Given the description of an element on the screen output the (x, y) to click on. 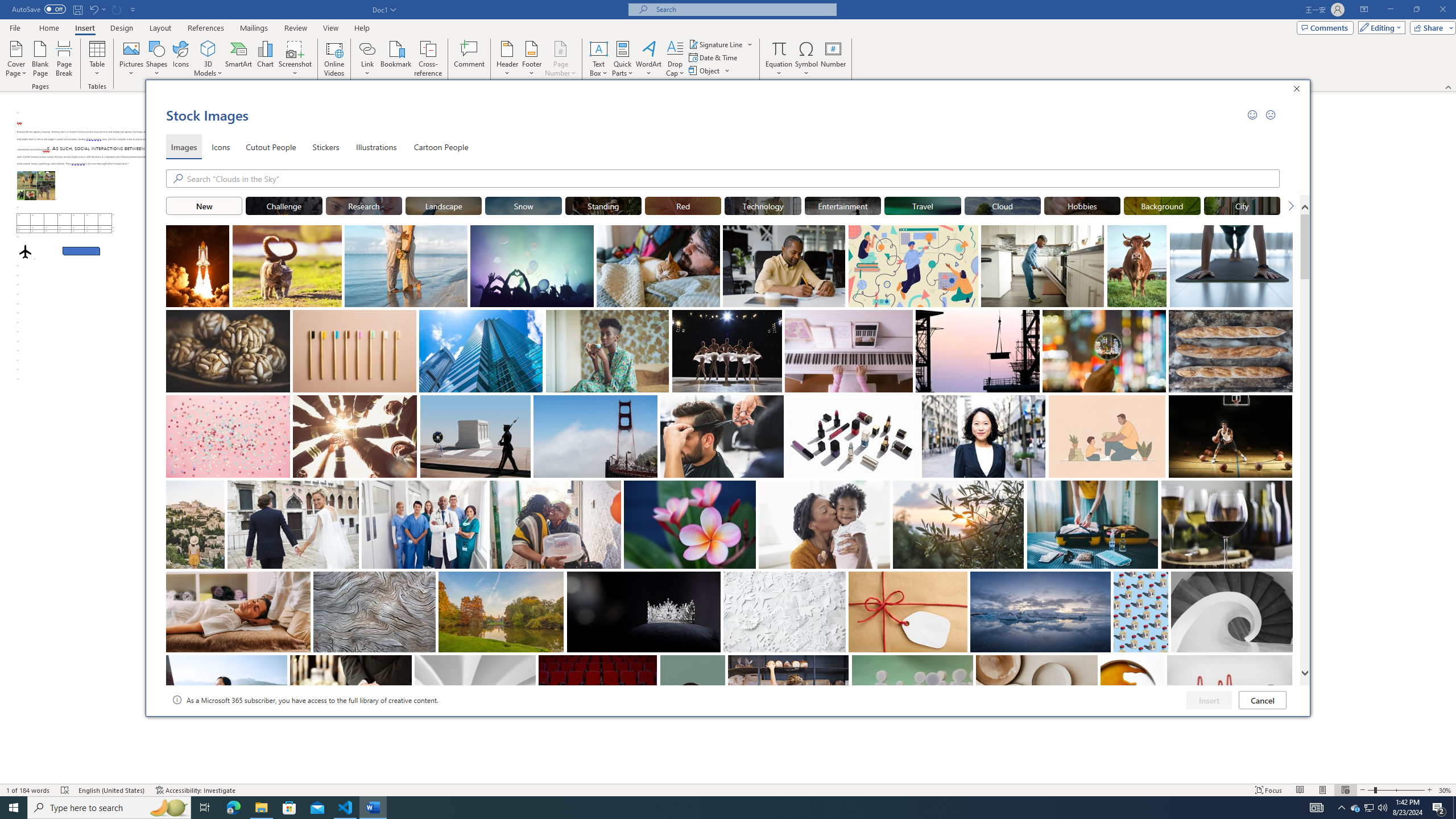
System (6, 6)
Can't Repeat (117, 9)
More Options (778, 68)
"Hobbies" Stock Images. (1082, 205)
Minimize (1390, 9)
"Cloud" Stock Images. (1002, 205)
References (205, 28)
"Challenge" Stock Images. (283, 205)
Action Center, 2 new notifications (1439, 807)
AutoSave (38, 9)
